Given the description of an element on the screen output the (x, y) to click on. 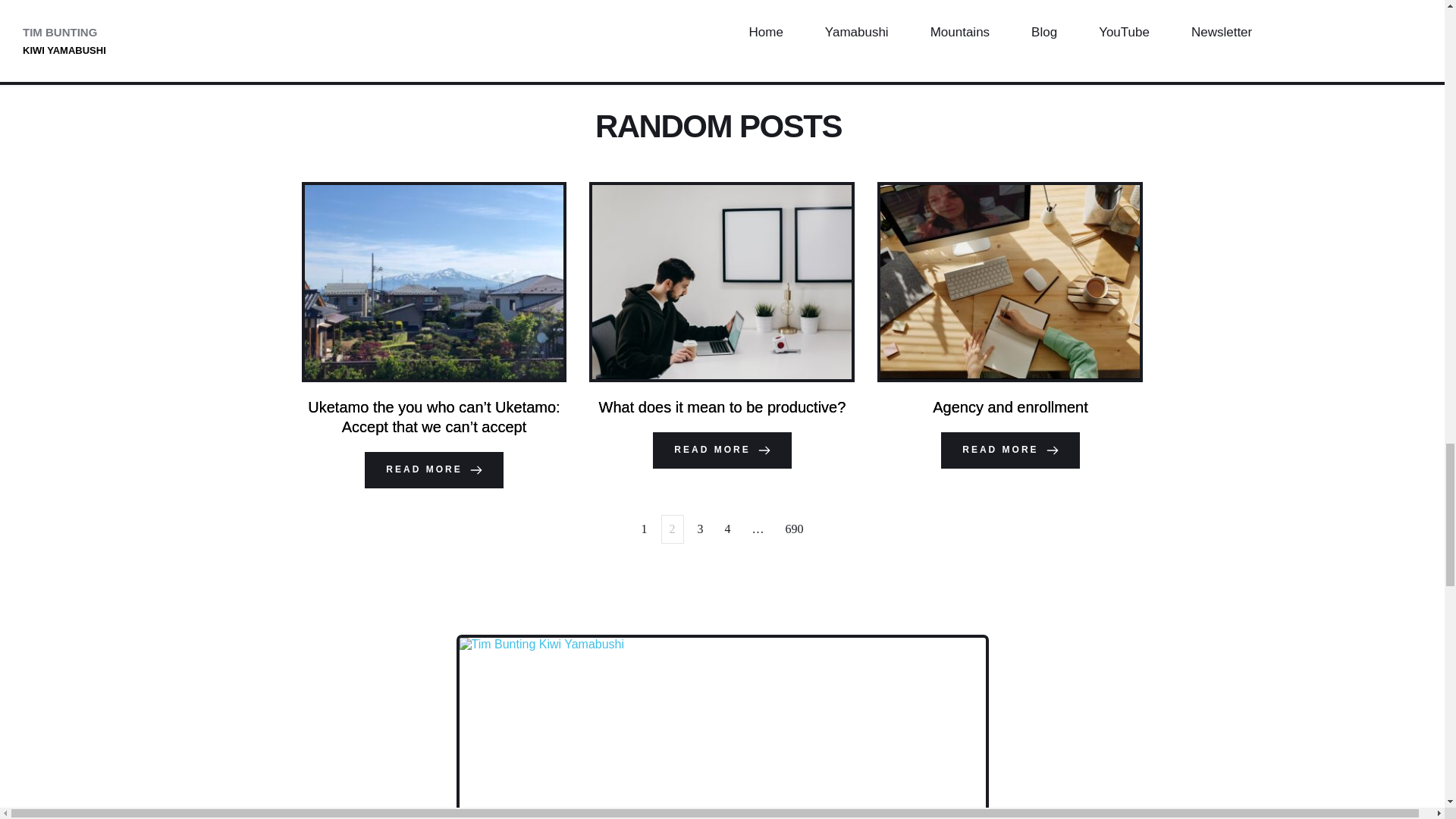
READ MORE (721, 4)
READ MORE (433, 470)
690 (793, 68)
READ MORE (1009, 4)
READ MORE (721, 450)
READ MORE (433, 14)
READ MORE (1009, 450)
